Given the description of an element on the screen output the (x, y) to click on. 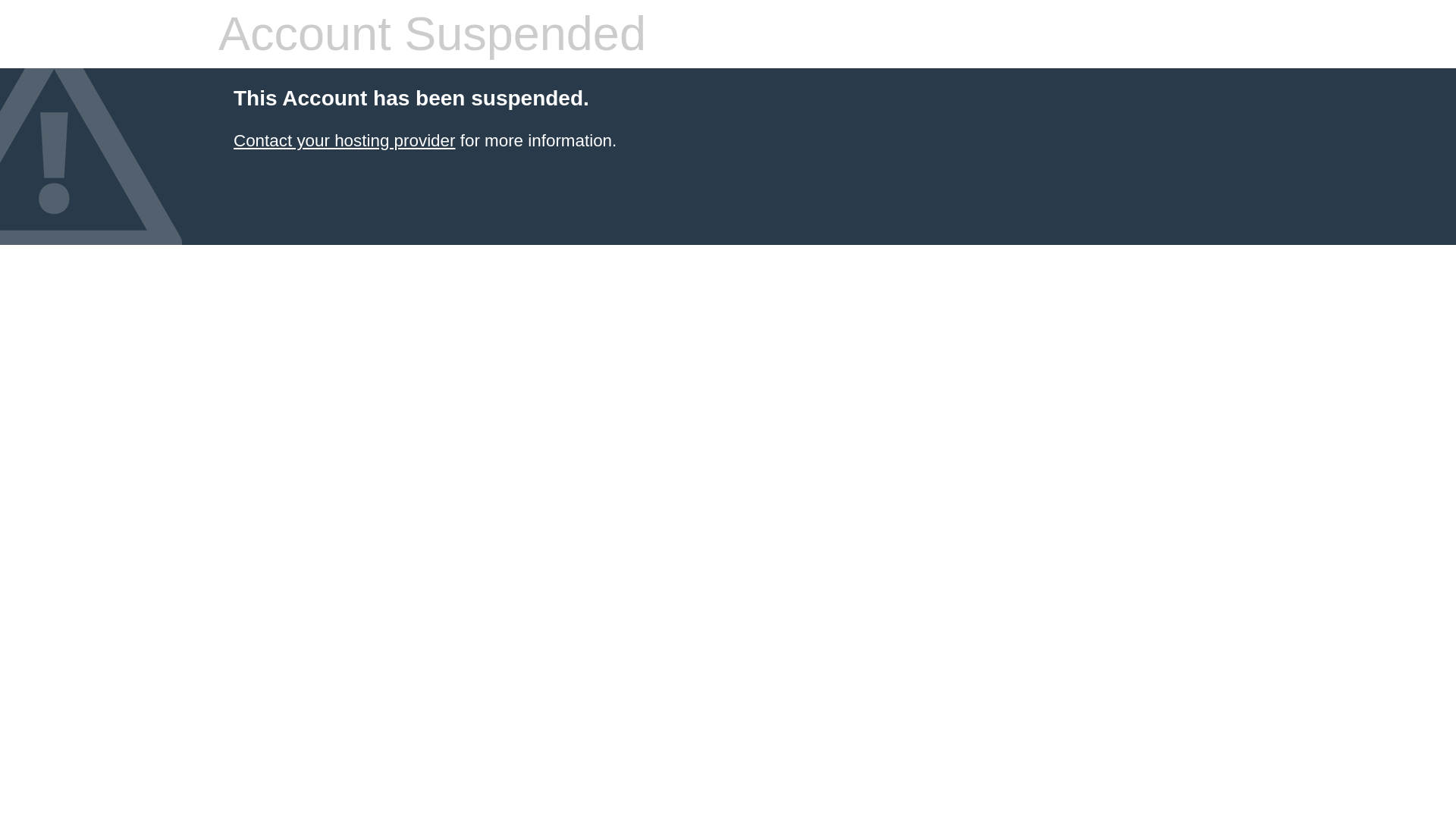
Contact your hosting provider (343, 140)
